Given the description of an element on the screen output the (x, y) to click on. 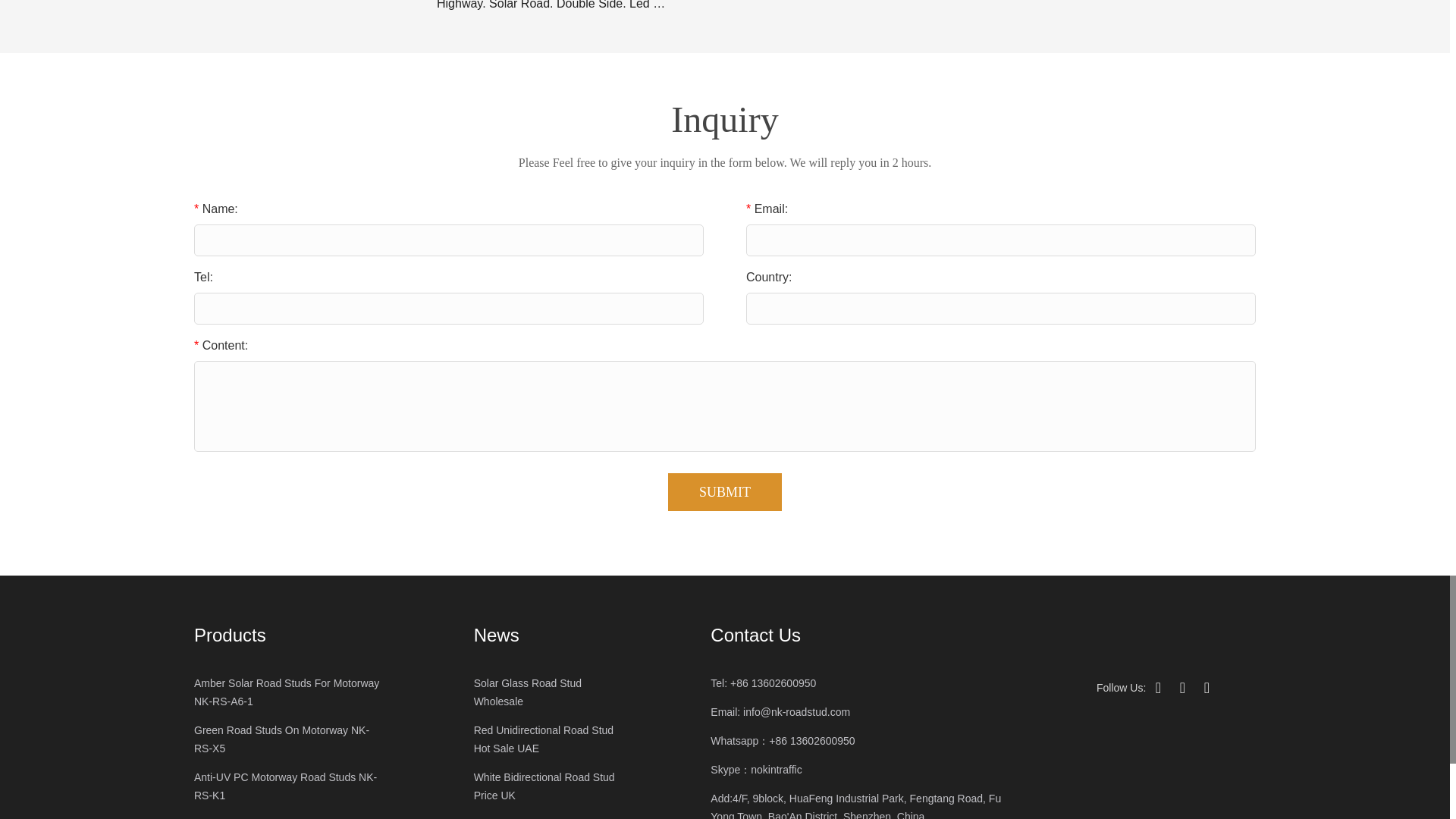
Amber Solar Road Studs For Motorway NK-RS-A6-1 (289, 692)
Products (289, 635)
SUBMIT (724, 492)
